Given the description of an element on the screen output the (x, y) to click on. 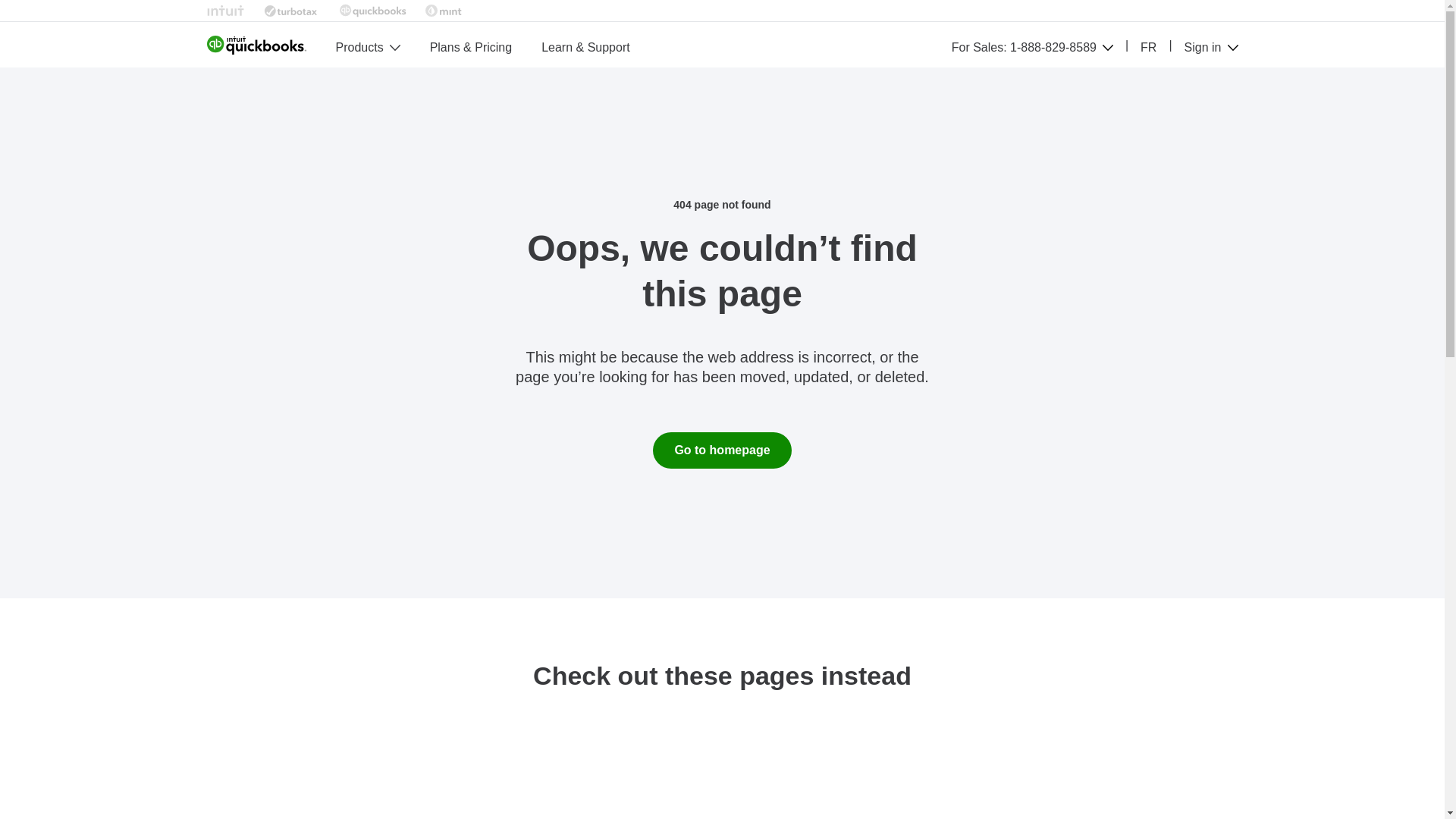
Products (358, 47)
